Given the description of an element on the screen output the (x, y) to click on. 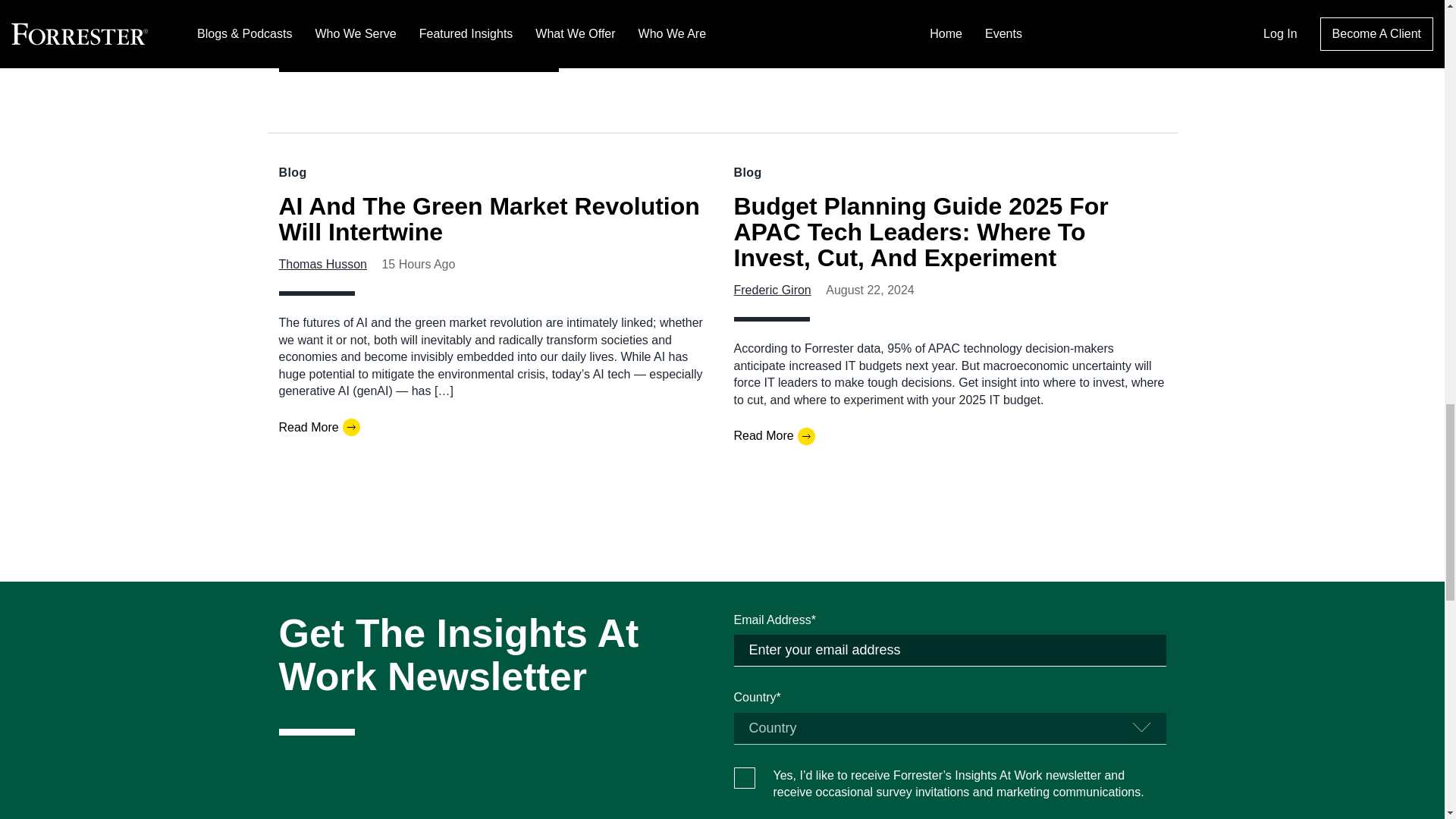
Thomas Husson (323, 264)
Frederic Giron (771, 289)
